Given the description of an element on the screen output the (x, y) to click on. 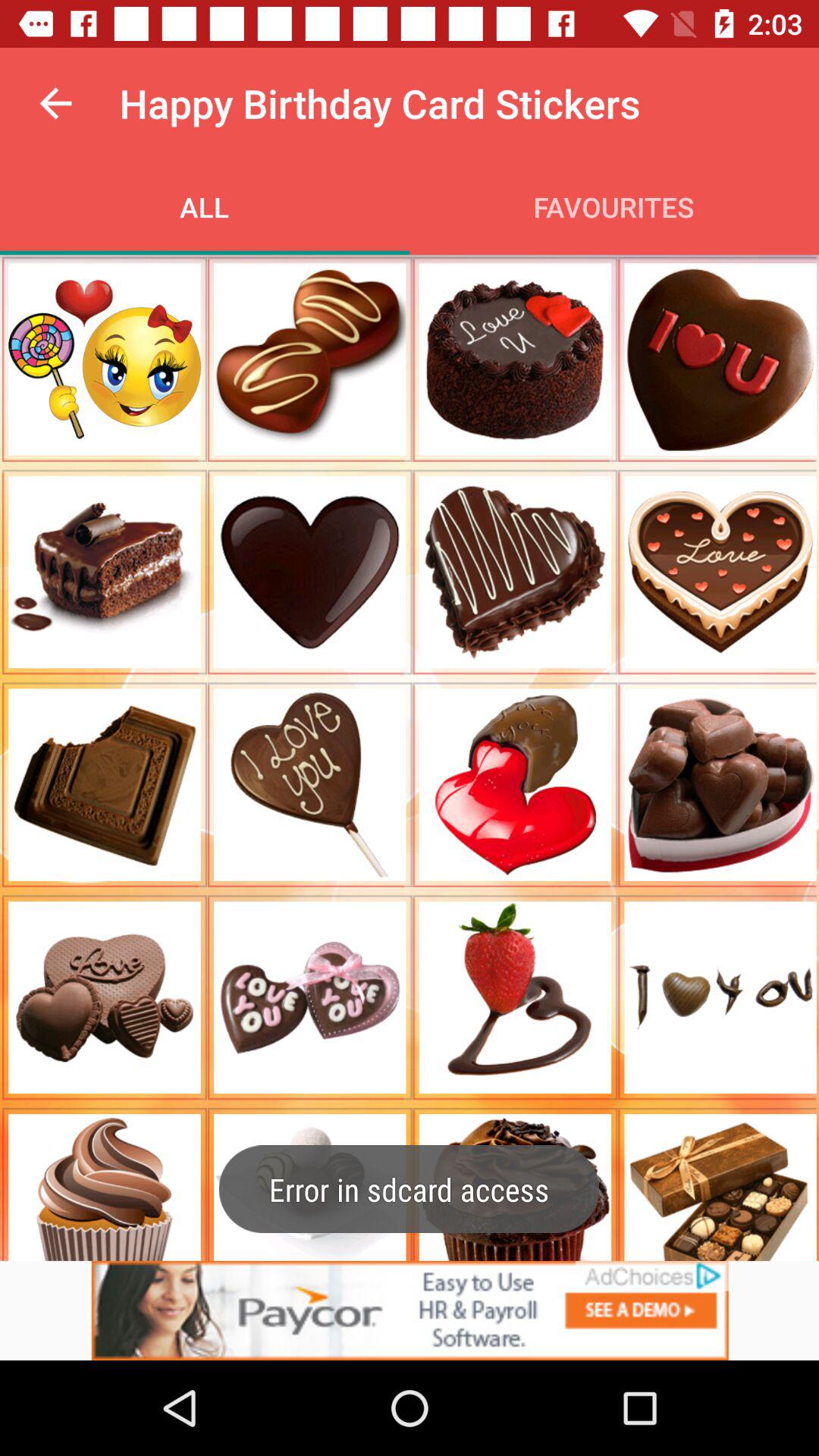
go to advertisements website (409, 1310)
